Given the description of an element on the screen output the (x, y) to click on. 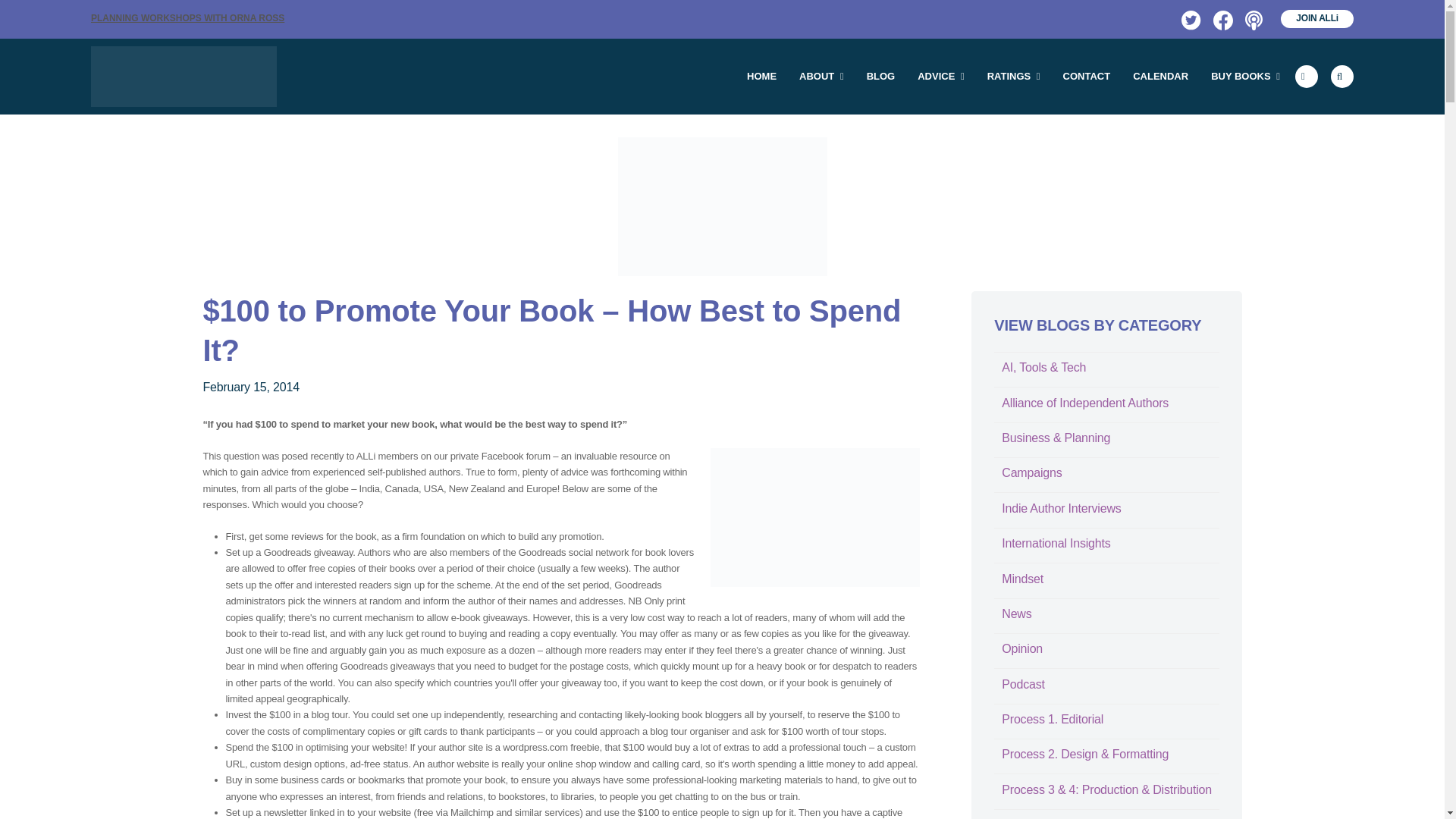
Enlarge Image (722, 206)
Facebook (1221, 18)
Podcast (1253, 18)
RATINGS (1013, 76)
HOME (761, 76)
ADVICE (940, 76)
Twitter (1189, 18)
Podcast (1253, 18)
BLOG (881, 76)
Twitter (1189, 18)
ABOUT (821, 76)
CONTACT (1086, 76)
Join ALLi (1317, 18)
BUY BOOKS (1245, 76)
PLANNING WORKSHOPS WITH ORNA ROSS (186, 18)
